Given the description of an element on the screen output the (x, y) to click on. 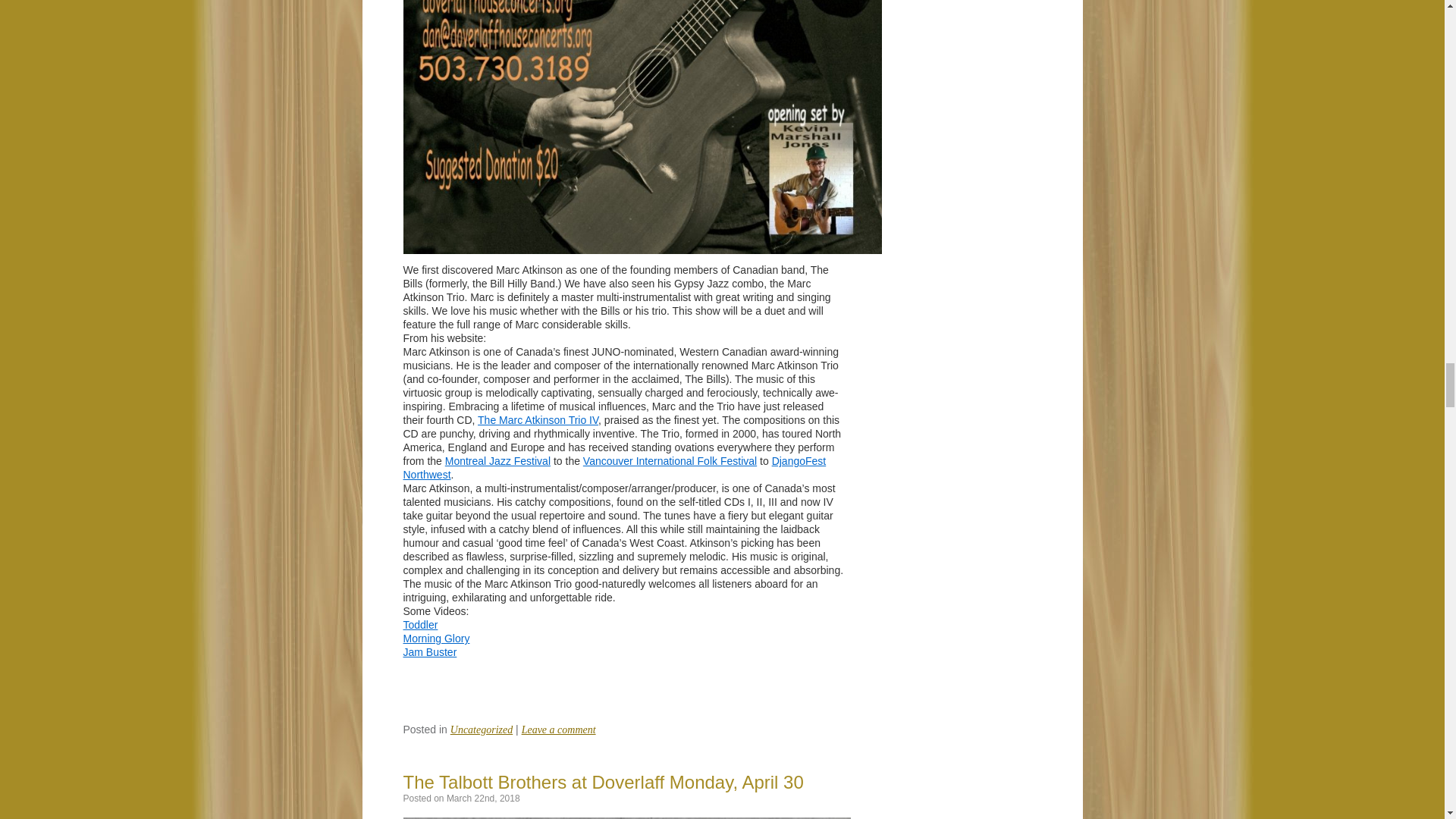
Morning Glory (436, 638)
Jam Buster (430, 652)
Uncategorized (480, 729)
The Marc Atkinson Trio IV (537, 419)
Montreal Jazz Festival (497, 460)
The Talbott Brothers at Doverlaff Monday, April 30 (603, 782)
DjangoFest Northwest (615, 467)
Toddler (420, 624)
Vancouver International Folk Festival (670, 460)
